Given the description of an element on the screen output the (x, y) to click on. 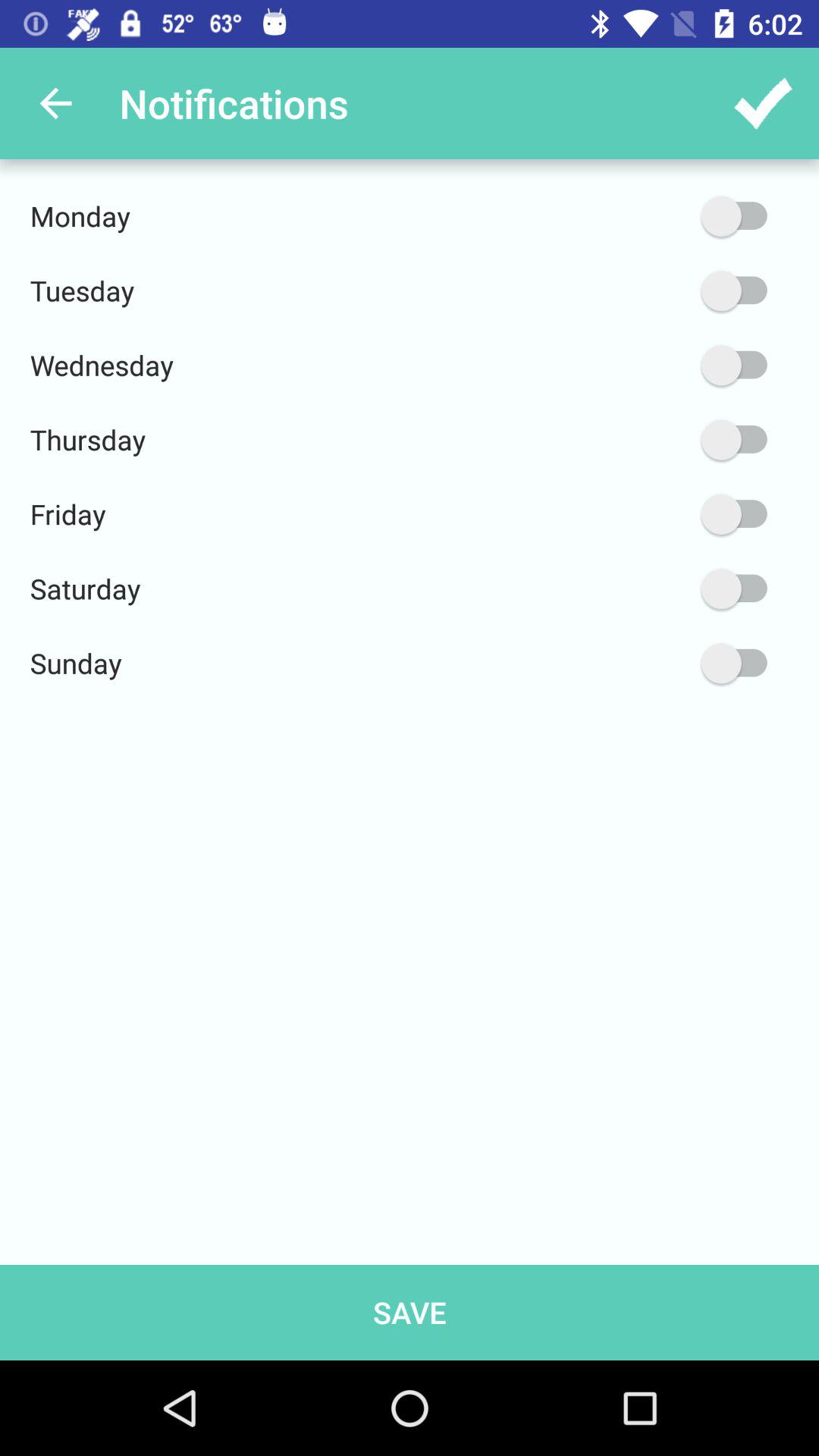
toggle notification option (661, 514)
